Given the description of an element on the screen output the (x, y) to click on. 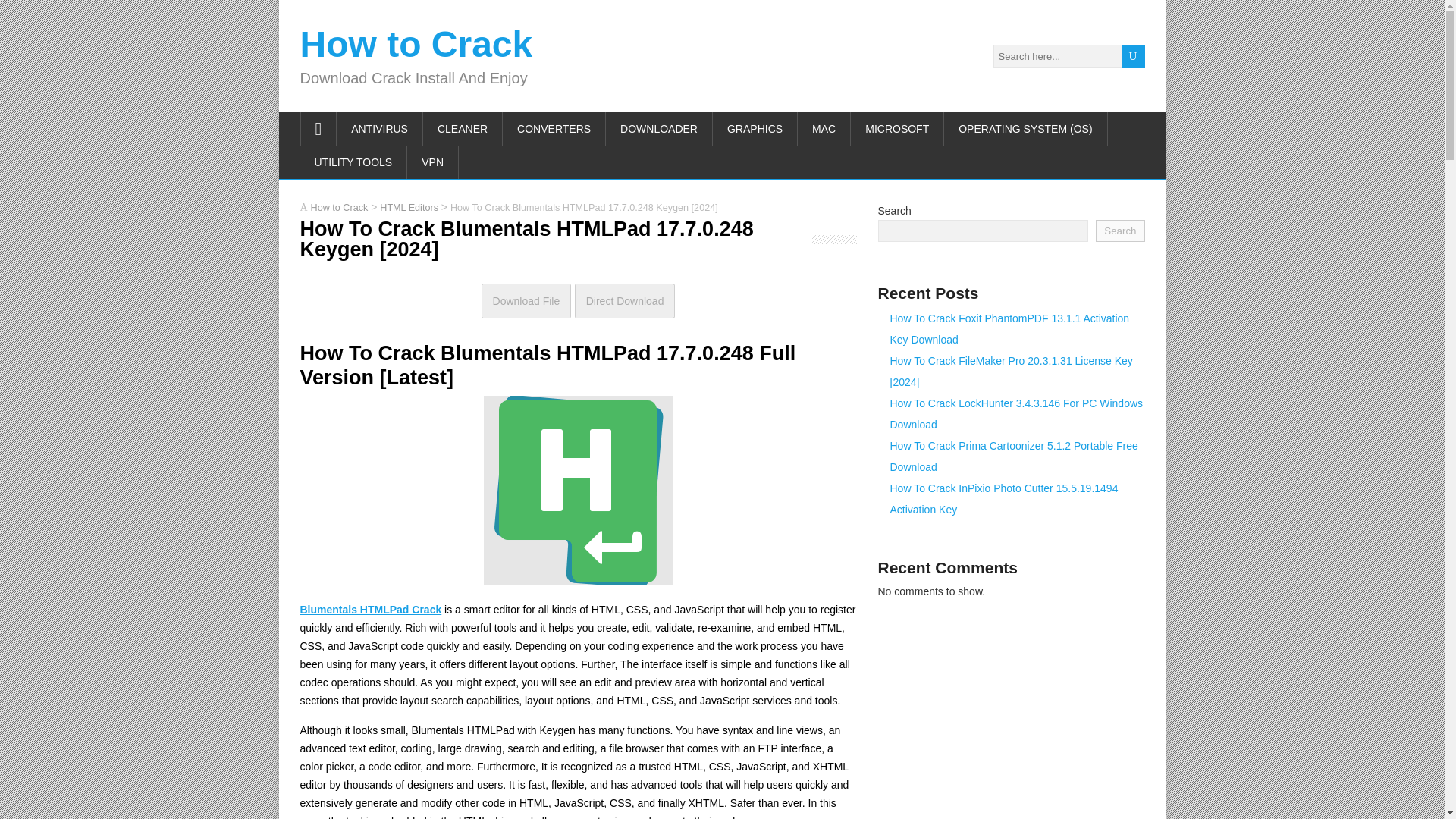
U (1132, 56)
HTML Editors (409, 206)
U (1132, 56)
CLEANER (462, 128)
Download File Direct Download (578, 300)
VPN (432, 162)
How to Crack (339, 206)
Go to the HTML Editors Category archives. (409, 206)
CONVERTERS (553, 128)
Search (1120, 230)
